Given the description of an element on the screen output the (x, y) to click on. 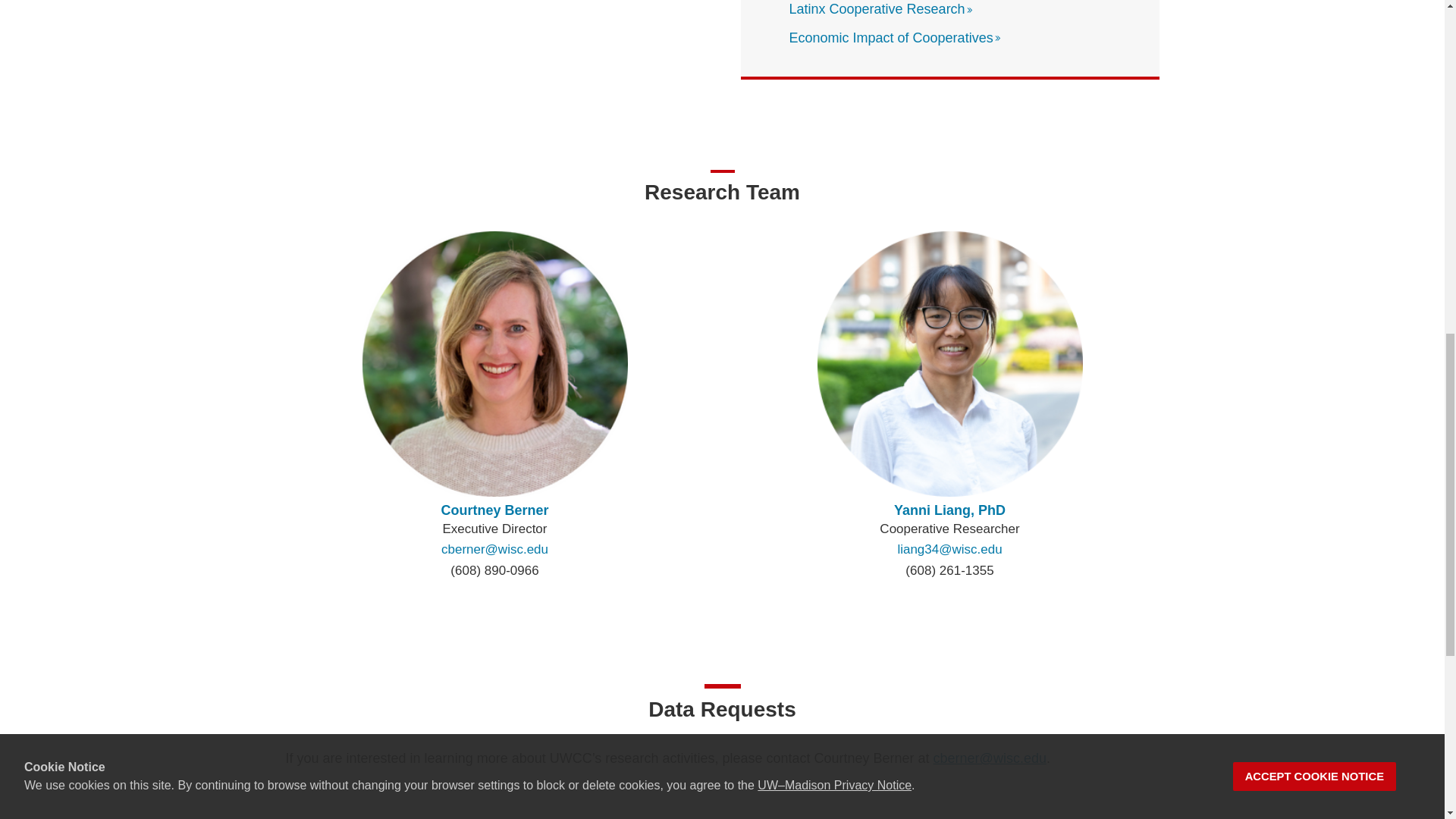
More (997, 37)
More (969, 9)
